Given the description of an element on the screen output the (x, y) to click on. 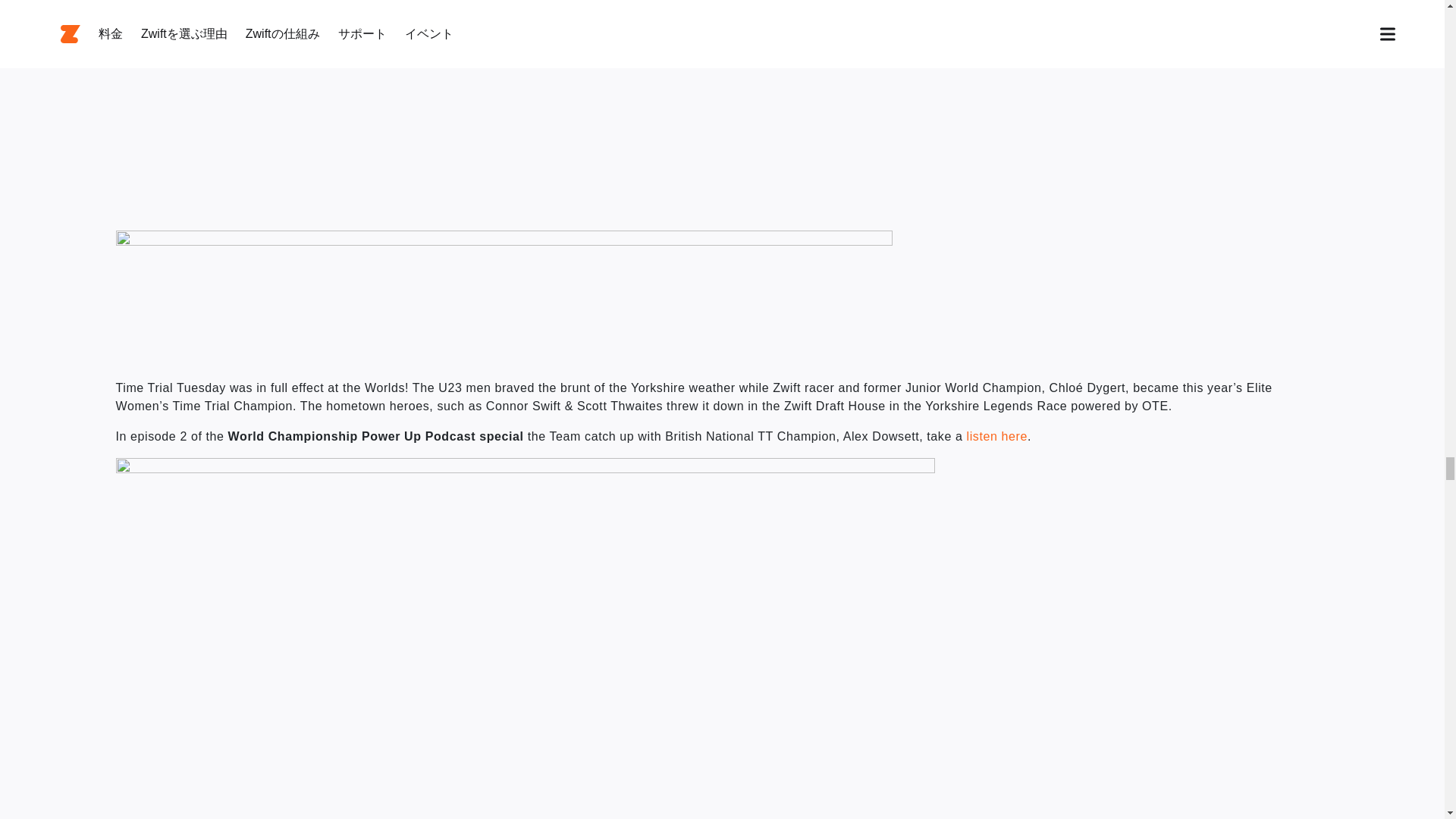
listen here (996, 436)
